Given the description of an element on the screen output the (x, y) to click on. 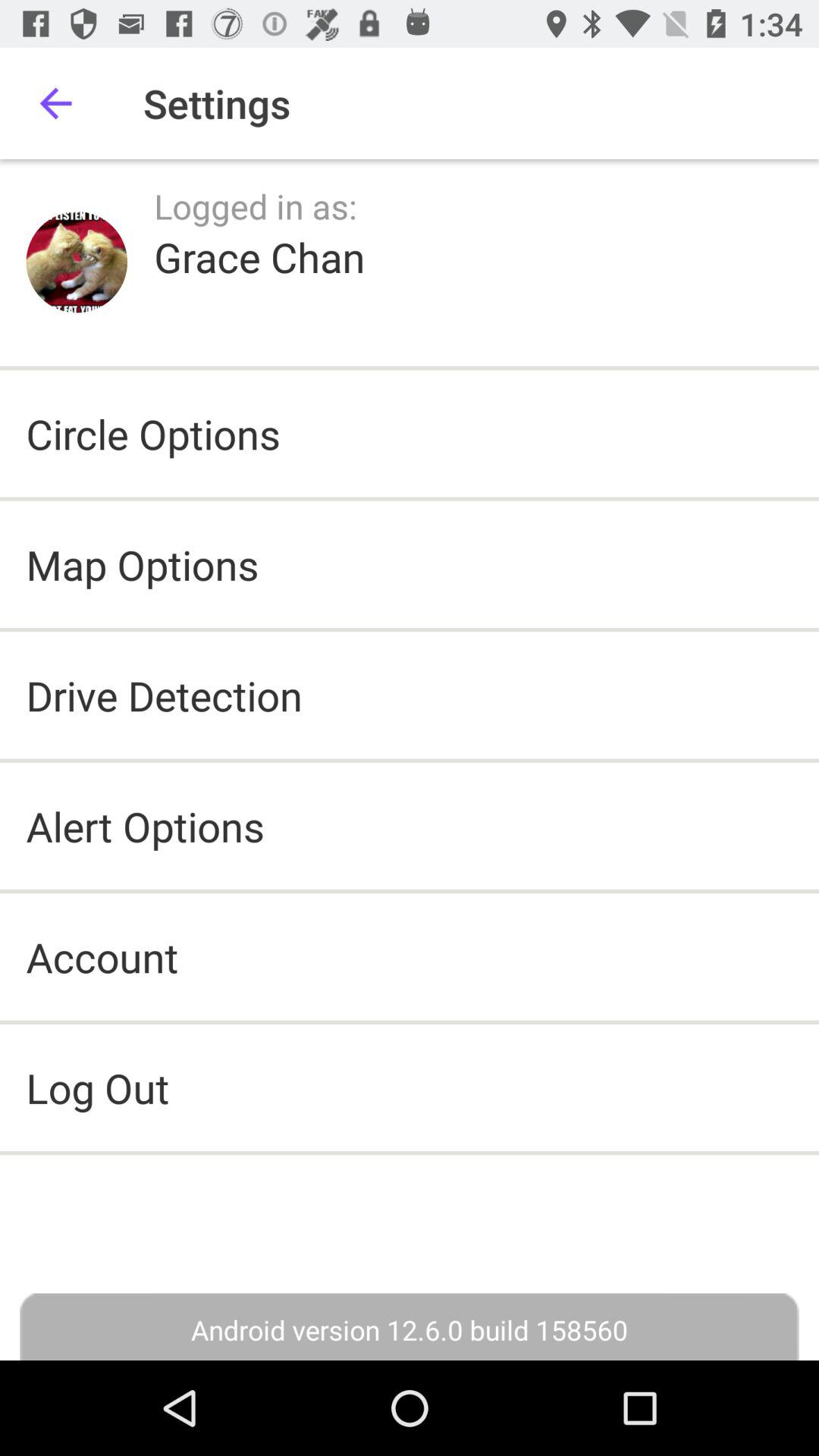
tap the log out item (409, 1087)
